Given the description of an element on the screen output the (x, y) to click on. 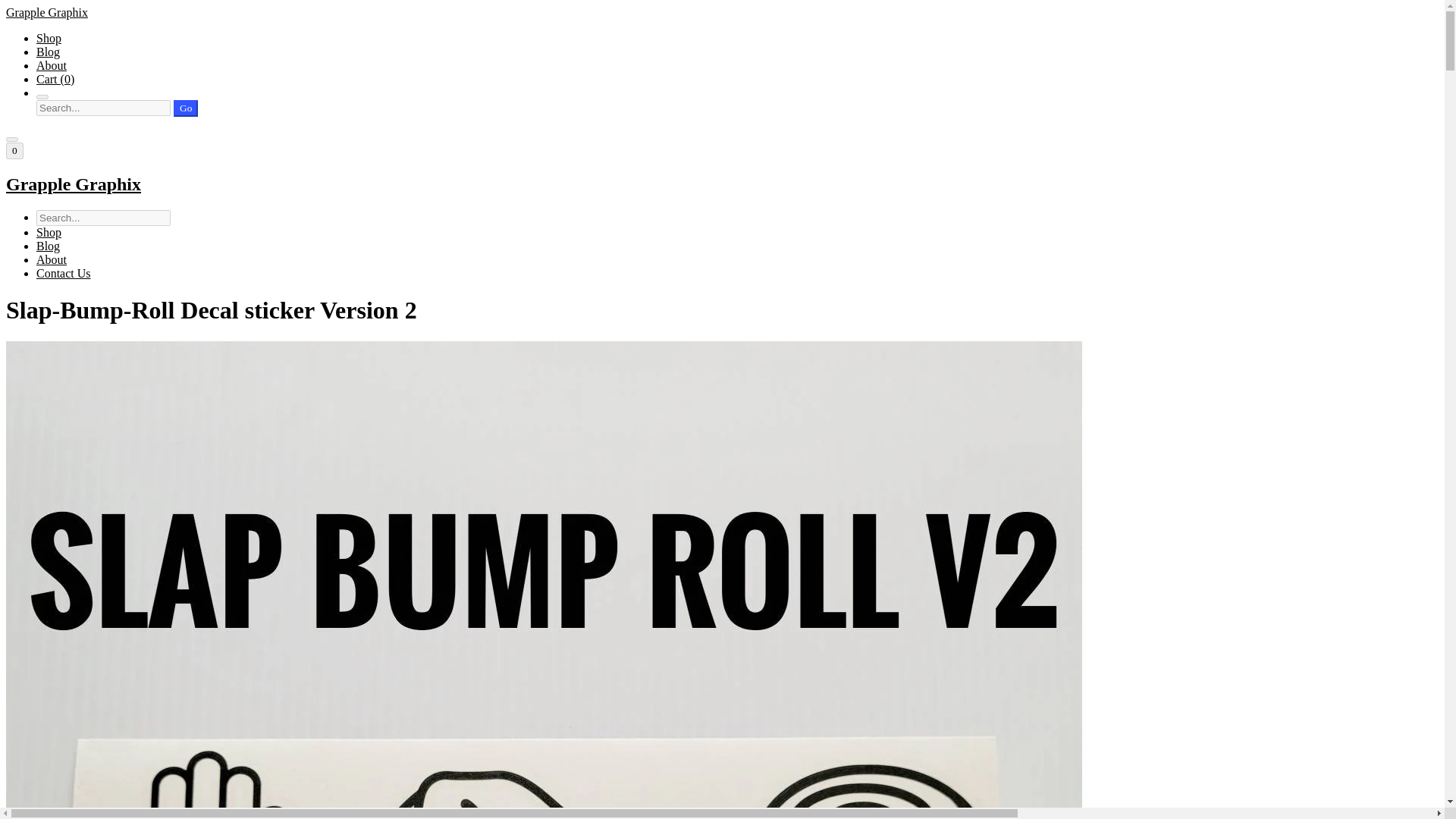
Grapple Graphix (721, 184)
Blog (47, 51)
Shop (48, 38)
Shop (48, 232)
0 (14, 150)
About (51, 65)
Go (185, 108)
About (51, 259)
Blog (47, 245)
Go (185, 108)
Contact Us (63, 273)
